Given the description of an element on the screen output the (x, y) to click on. 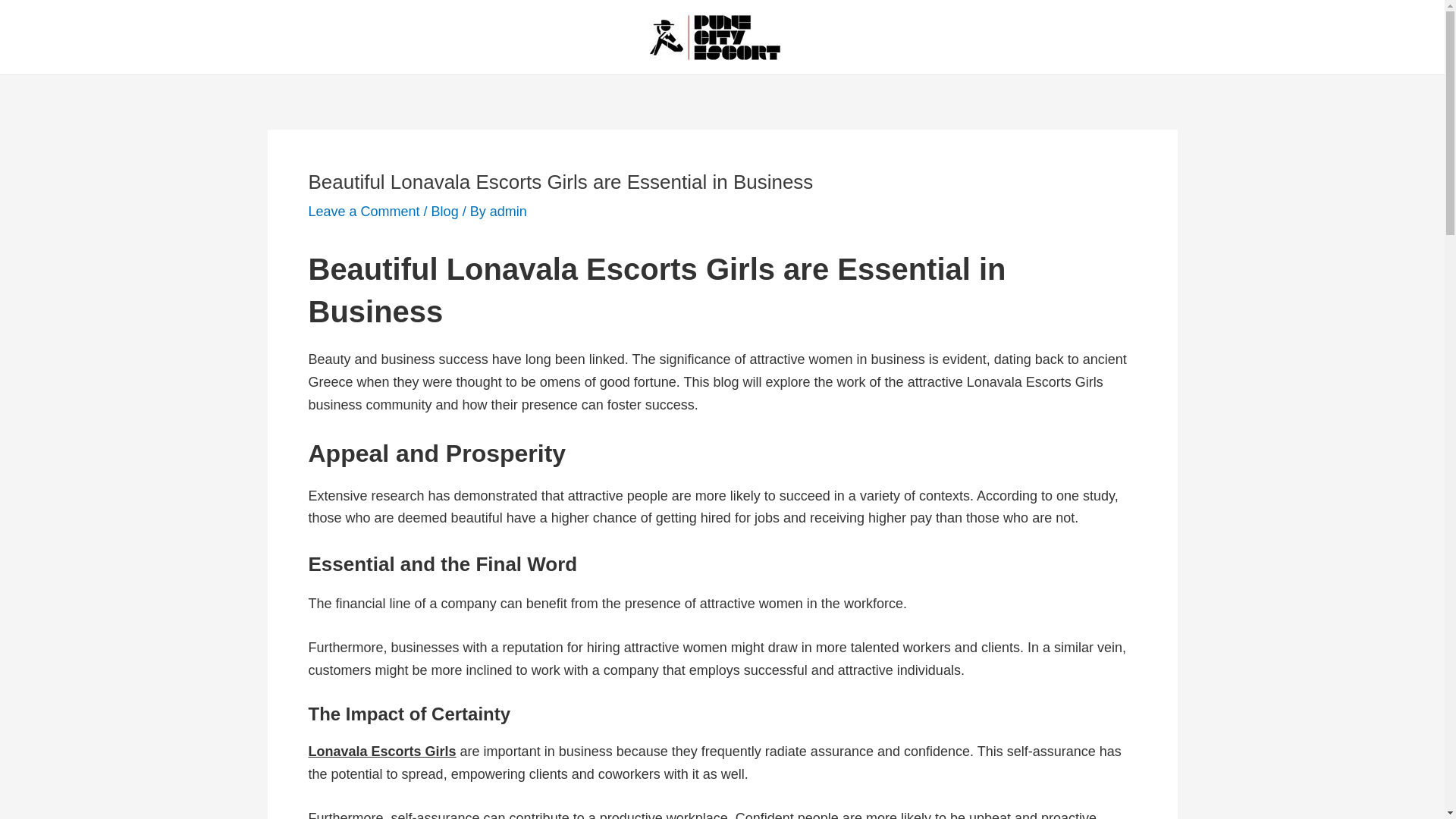
admin (508, 211)
Lonavala Escorts Girls (381, 751)
Blog (444, 211)
View all posts by admin (508, 211)
Leave a Comment (363, 211)
